Given the description of an element on the screen output the (x, y) to click on. 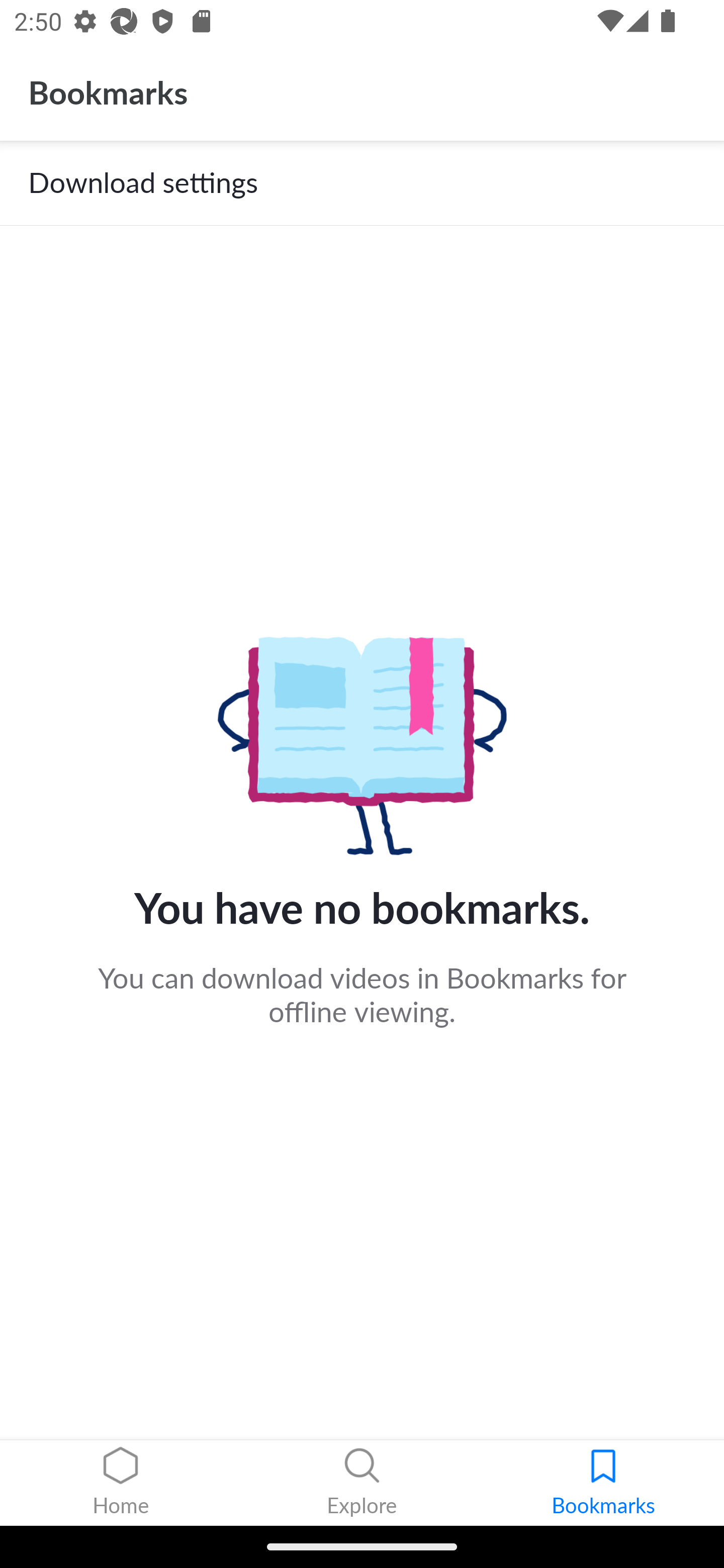
Download settings (362, 183)
Home (120, 1482)
Explore (361, 1482)
Bookmarks (603, 1482)
